Given the description of an element on the screen output the (x, y) to click on. 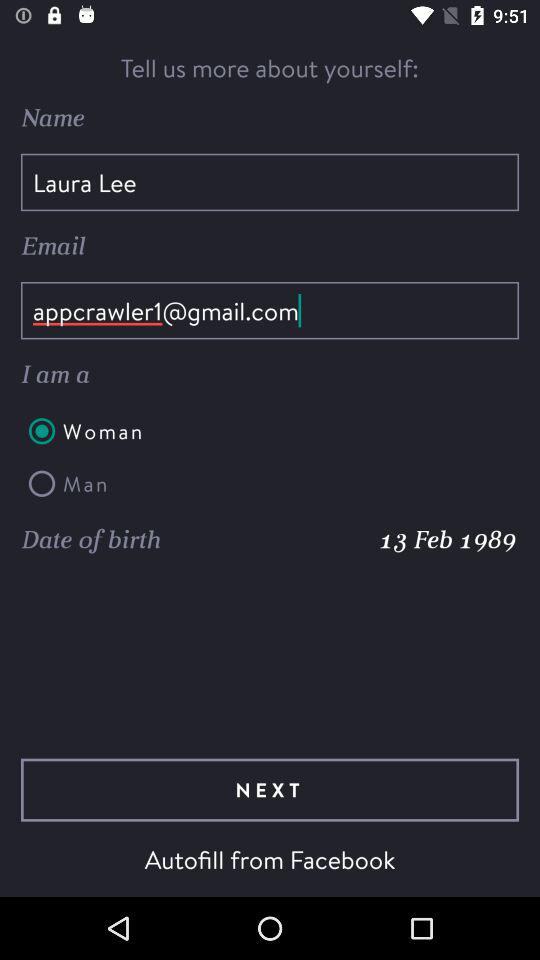
launch the autofill from facebook item (270, 859)
